Given the description of an element on the screen output the (x, y) to click on. 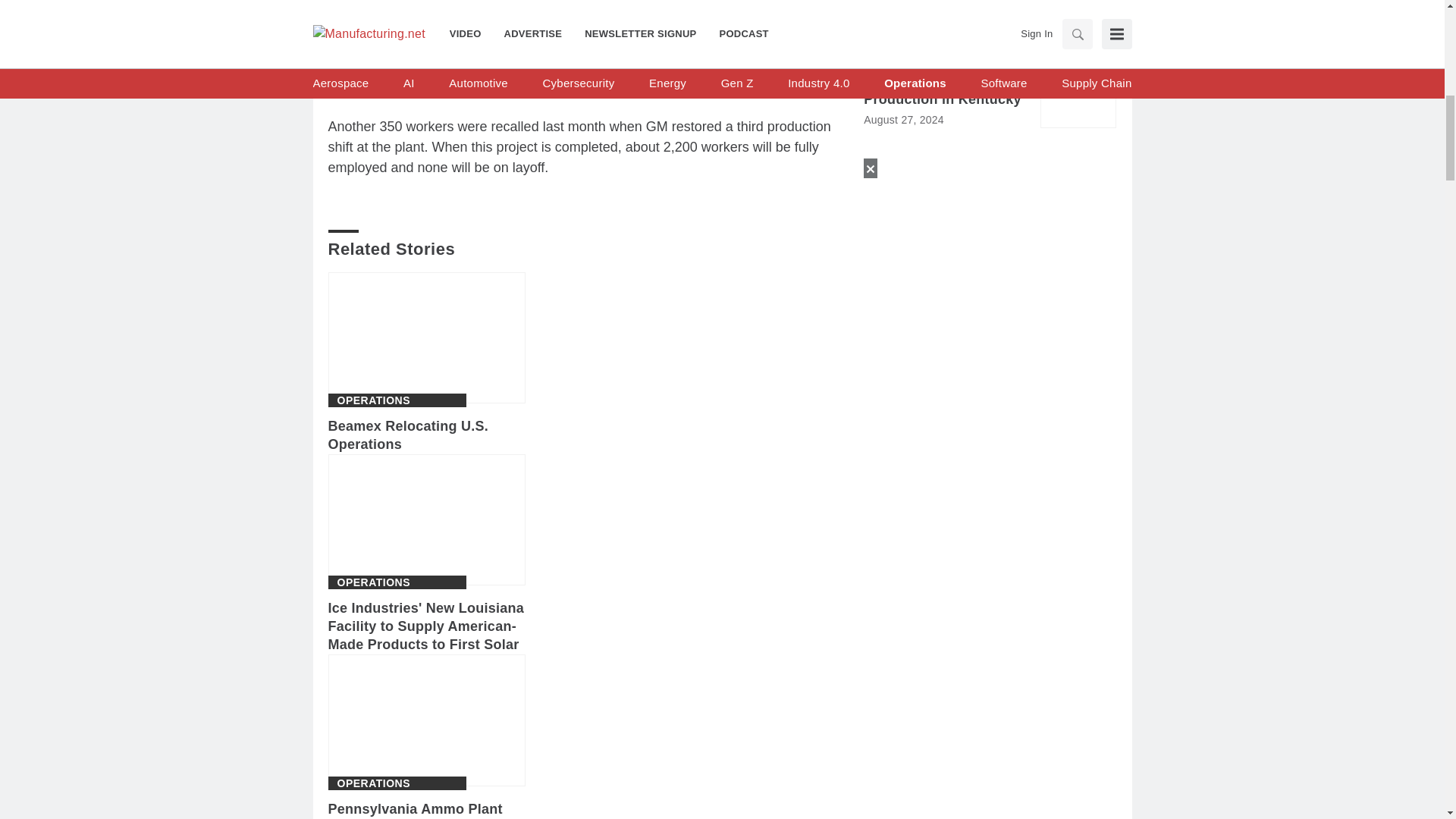
Operations (373, 783)
Operations (373, 582)
Operations (373, 399)
